Given the description of an element on the screen output the (x, y) to click on. 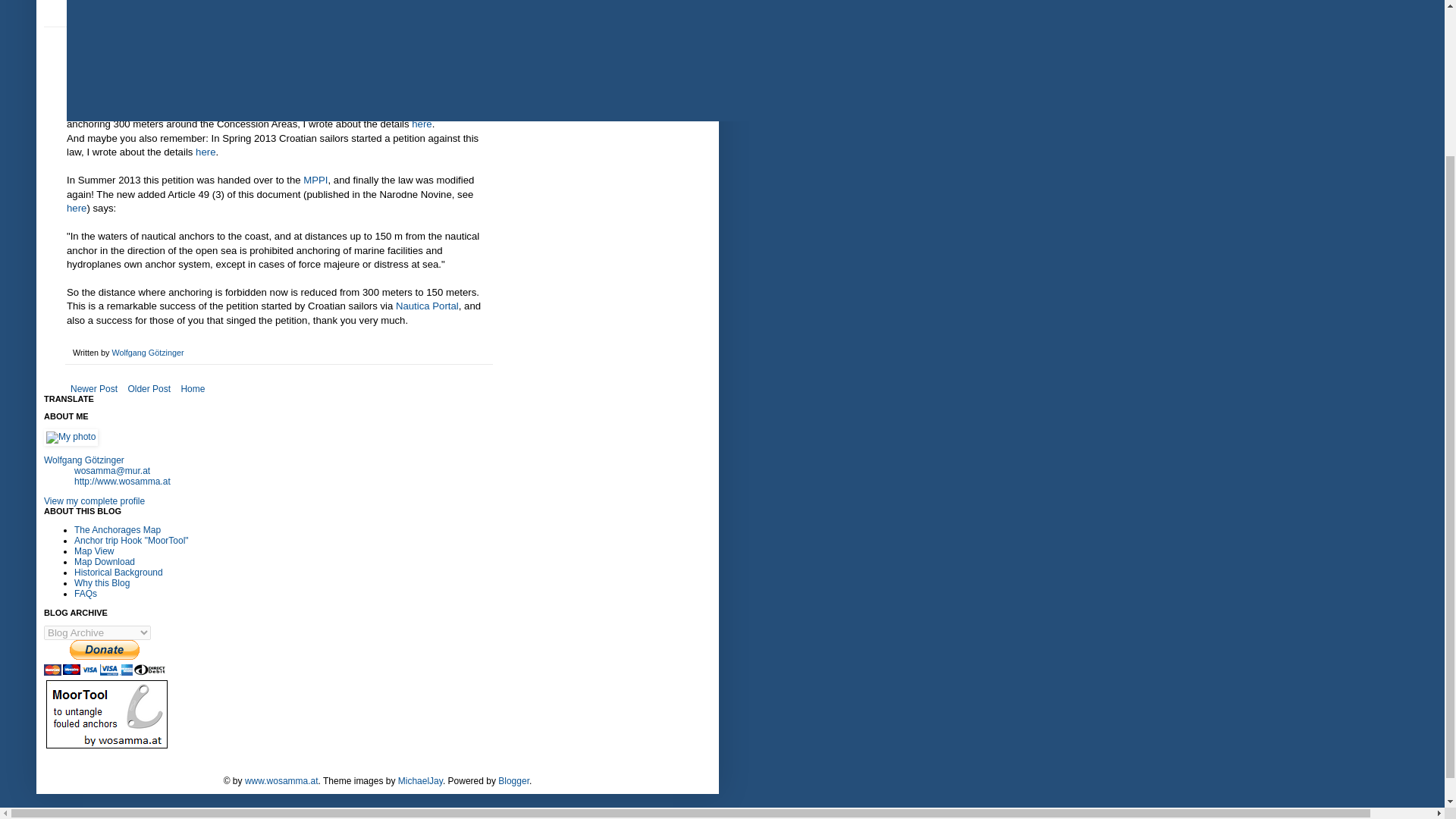
MPPI (314, 179)
www.wosamma.at (281, 780)
Older Post (148, 389)
Map Download (104, 561)
Home (192, 389)
Blogger (513, 780)
Newer Post (93, 389)
MichaelJay (419, 780)
author profile (147, 352)
Map View (93, 551)
View my complete profile (93, 501)
Anchor trip Hook "MoorTool" (131, 540)
Why this Blog (101, 583)
Historical Background (118, 572)
Newer Post (93, 389)
